Given the description of an element on the screen output the (x, y) to click on. 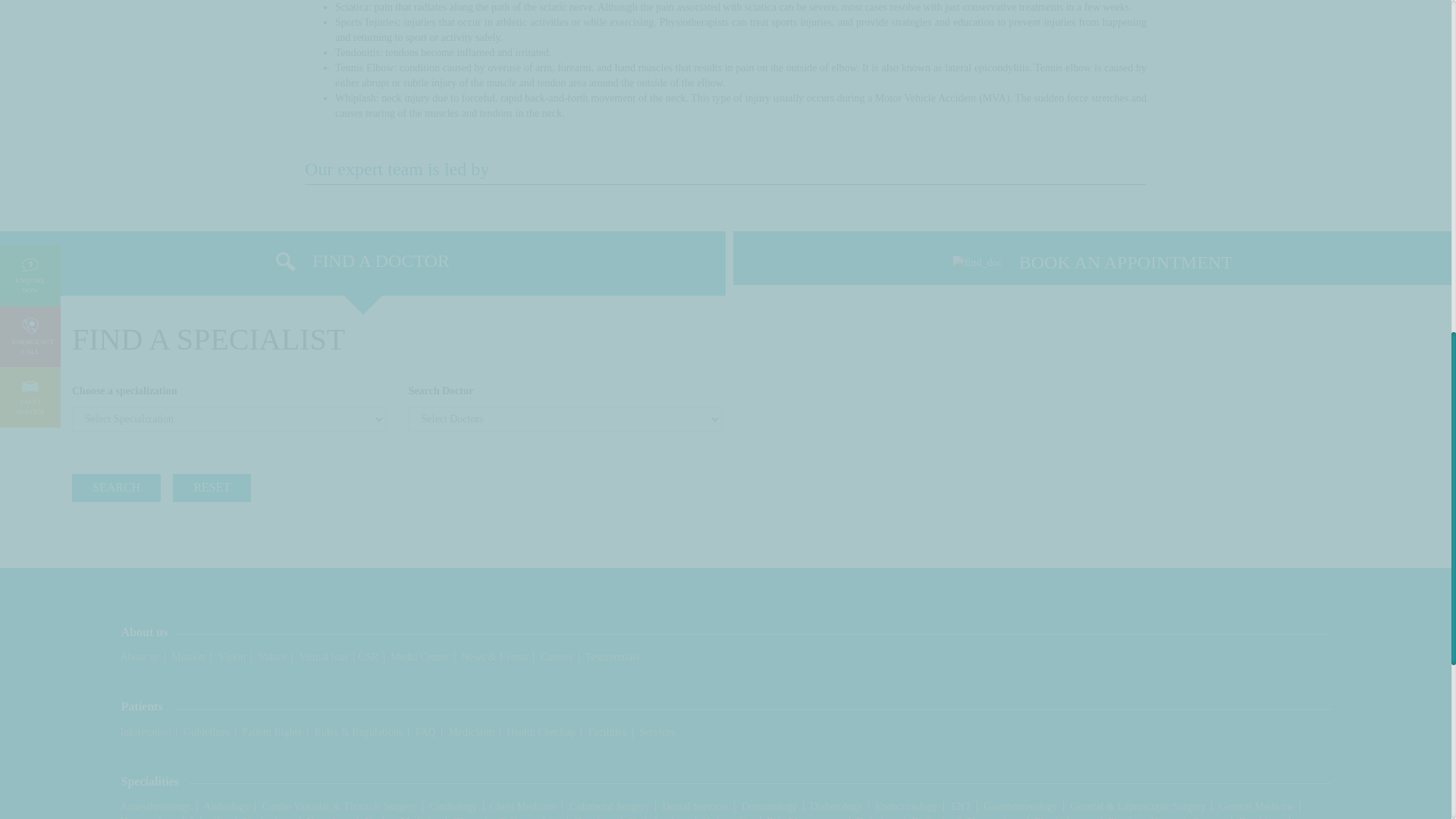
search-doctor-btn (115, 488)
search-doctor (228, 391)
search-doctor (564, 391)
